Given the description of an element on the screen output the (x, y) to click on. 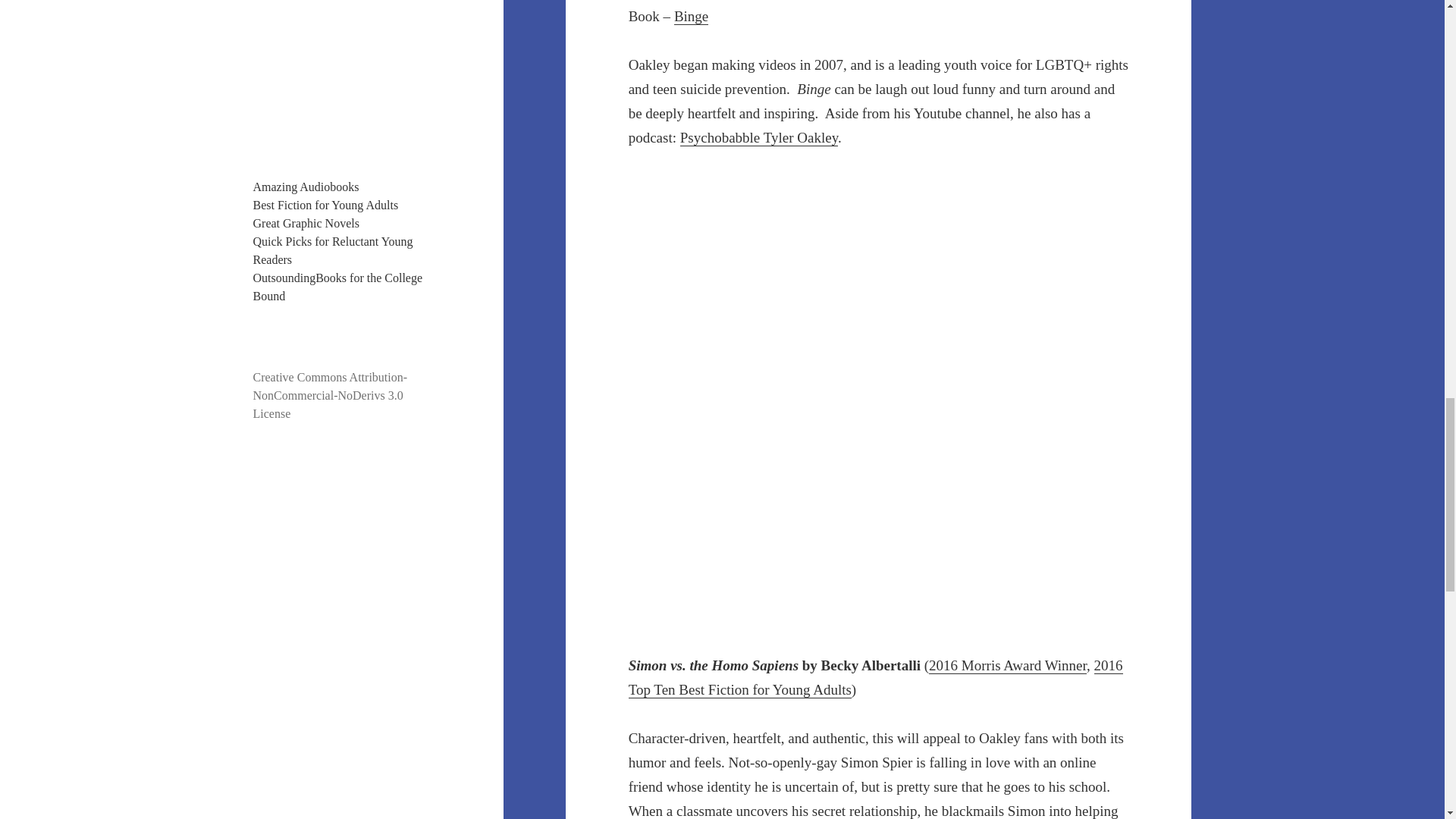
Great Graphic Novels (306, 223)
Amazing Audiobooks (306, 186)
Best Fiction for Young Adults (325, 205)
Quick Picks for Reluctant Young Readers (333, 250)
OutsoundingBooks for the College Bound (338, 286)
